Given the description of an element on the screen output the (x, y) to click on. 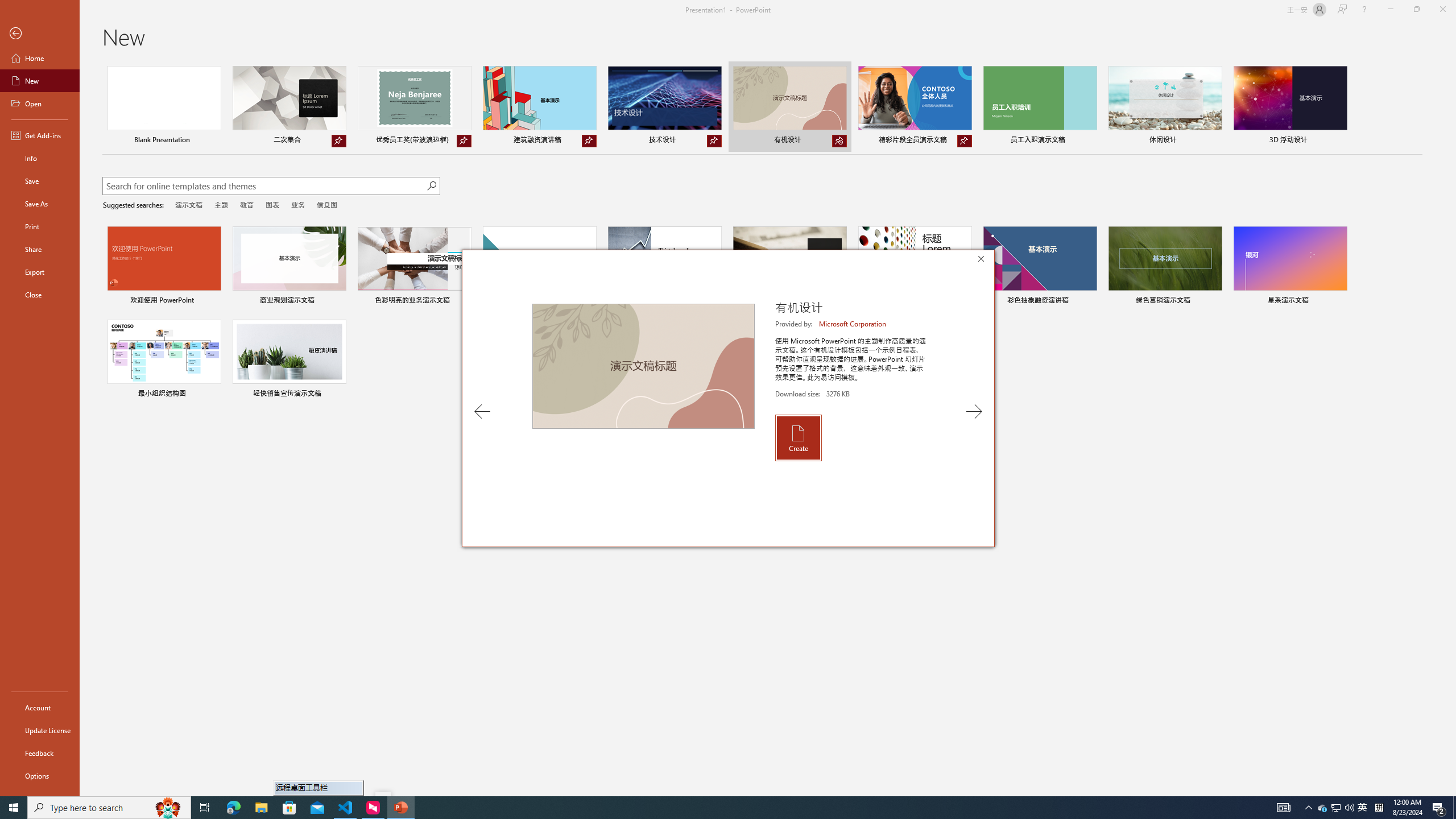
Account (40, 707)
Update License (40, 730)
Microsoft Corporation (853, 323)
